Given the description of an element on the screen output the (x, y) to click on. 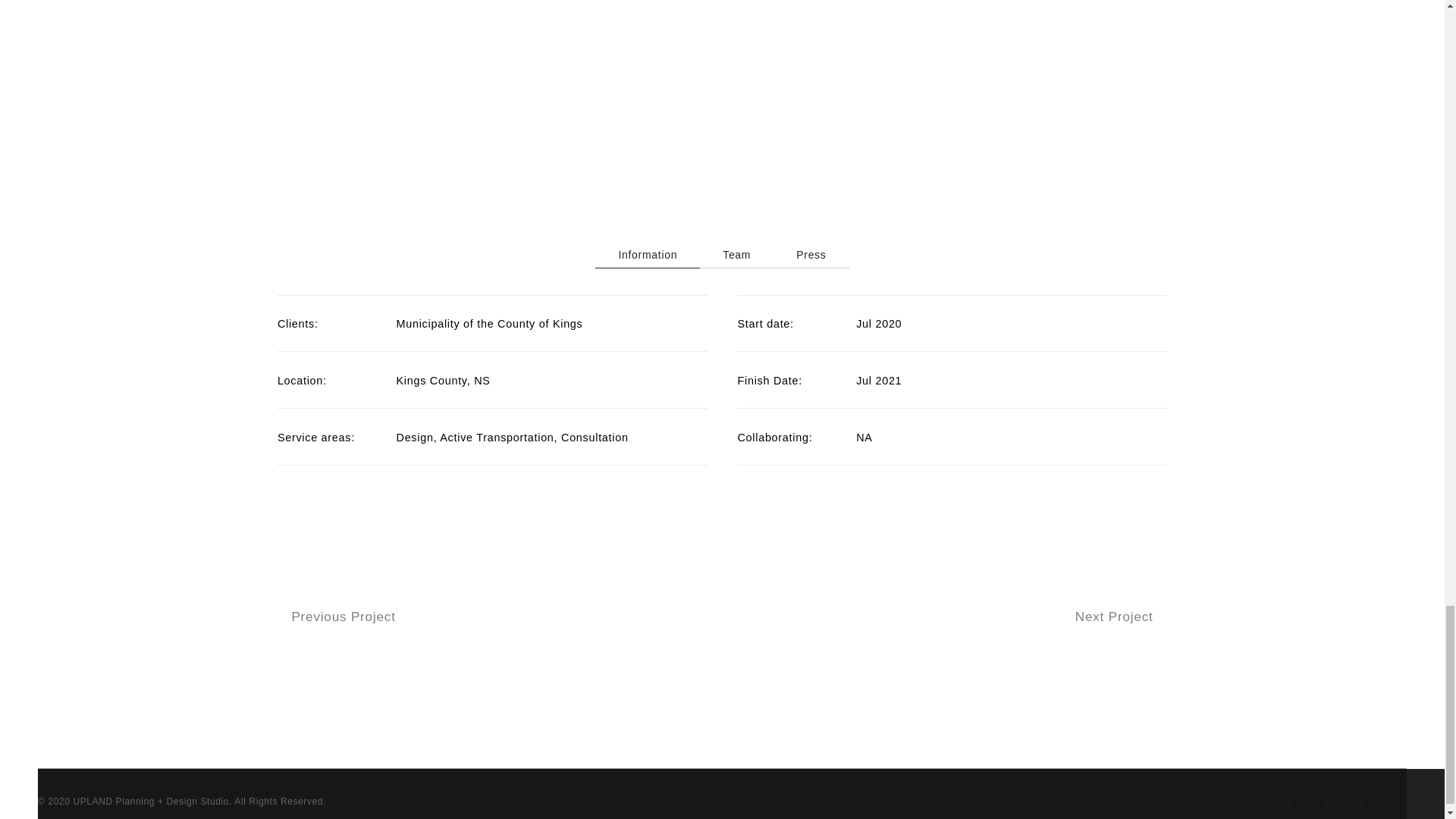
Next Project (1134, 617)
Team (736, 255)
Information (647, 255)
Previous Project (322, 617)
Press (810, 255)
